Given the description of an element on the screen output the (x, y) to click on. 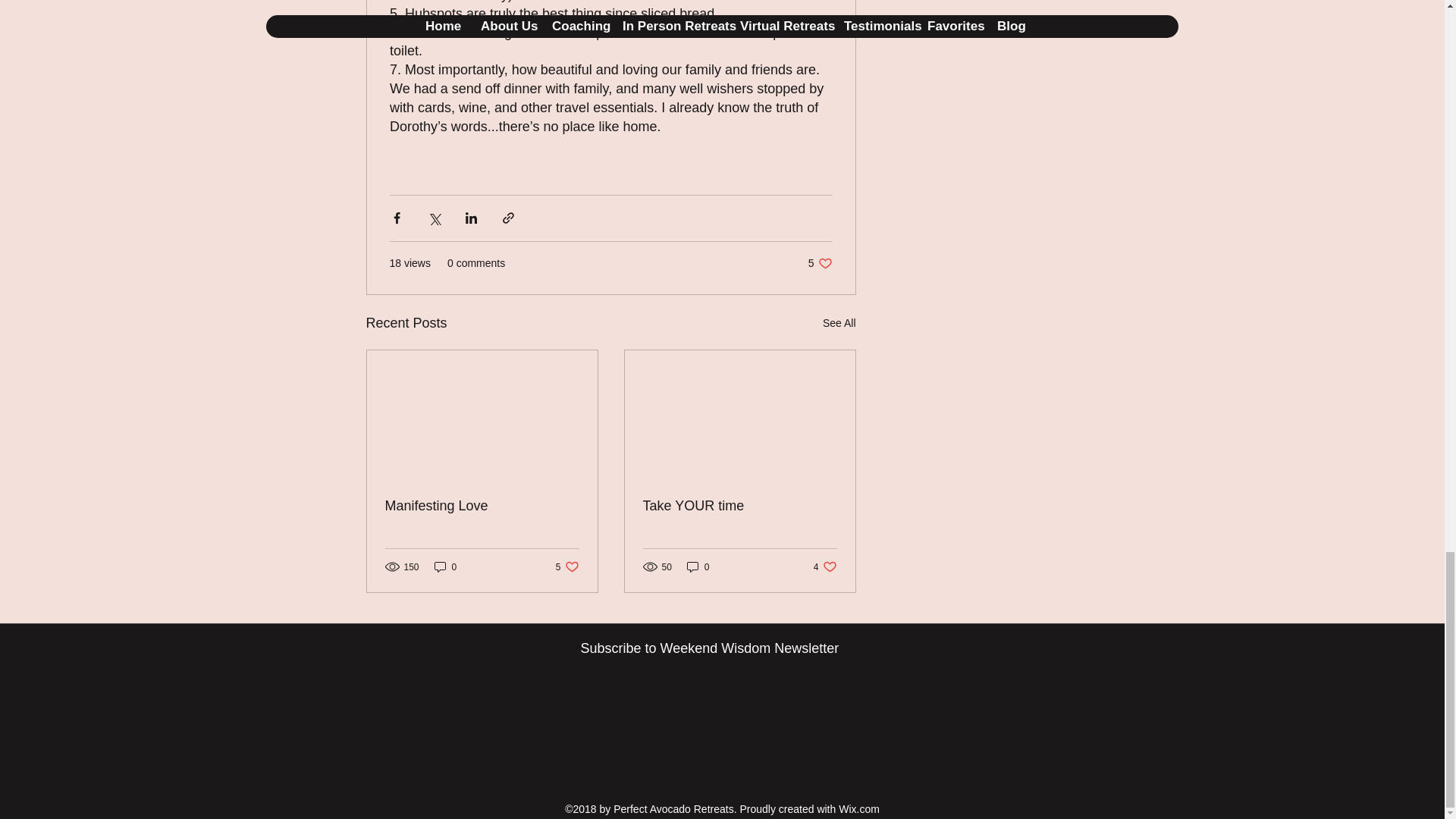
0 (567, 566)
Manifesting Love (445, 566)
Take YOUR time (482, 505)
0 (740, 505)
See All (825, 566)
